Given the description of an element on the screen output the (x, y) to click on. 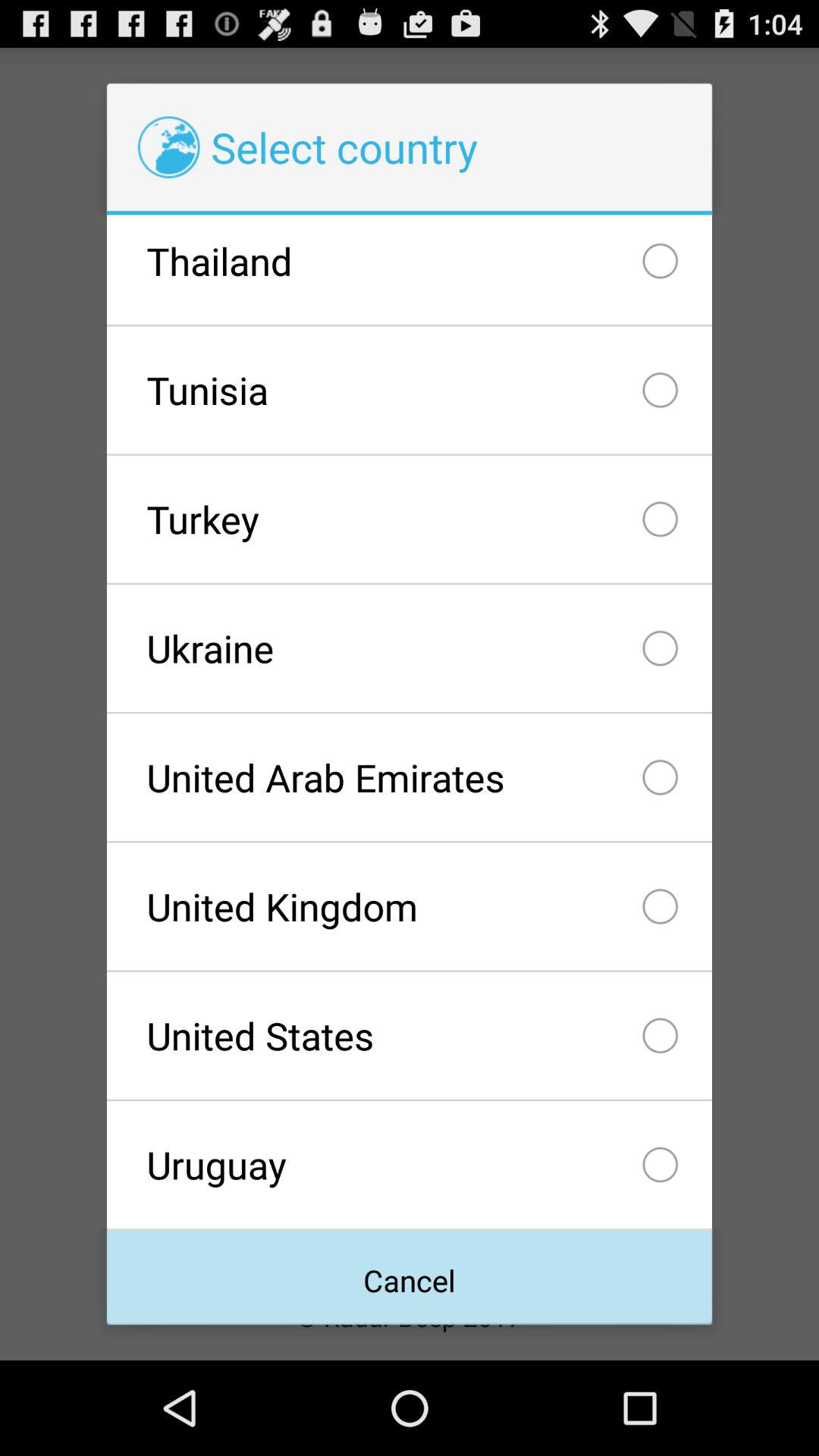
choose item below the ukraine icon (409, 777)
